Given the description of an element on the screen output the (x, y) to click on. 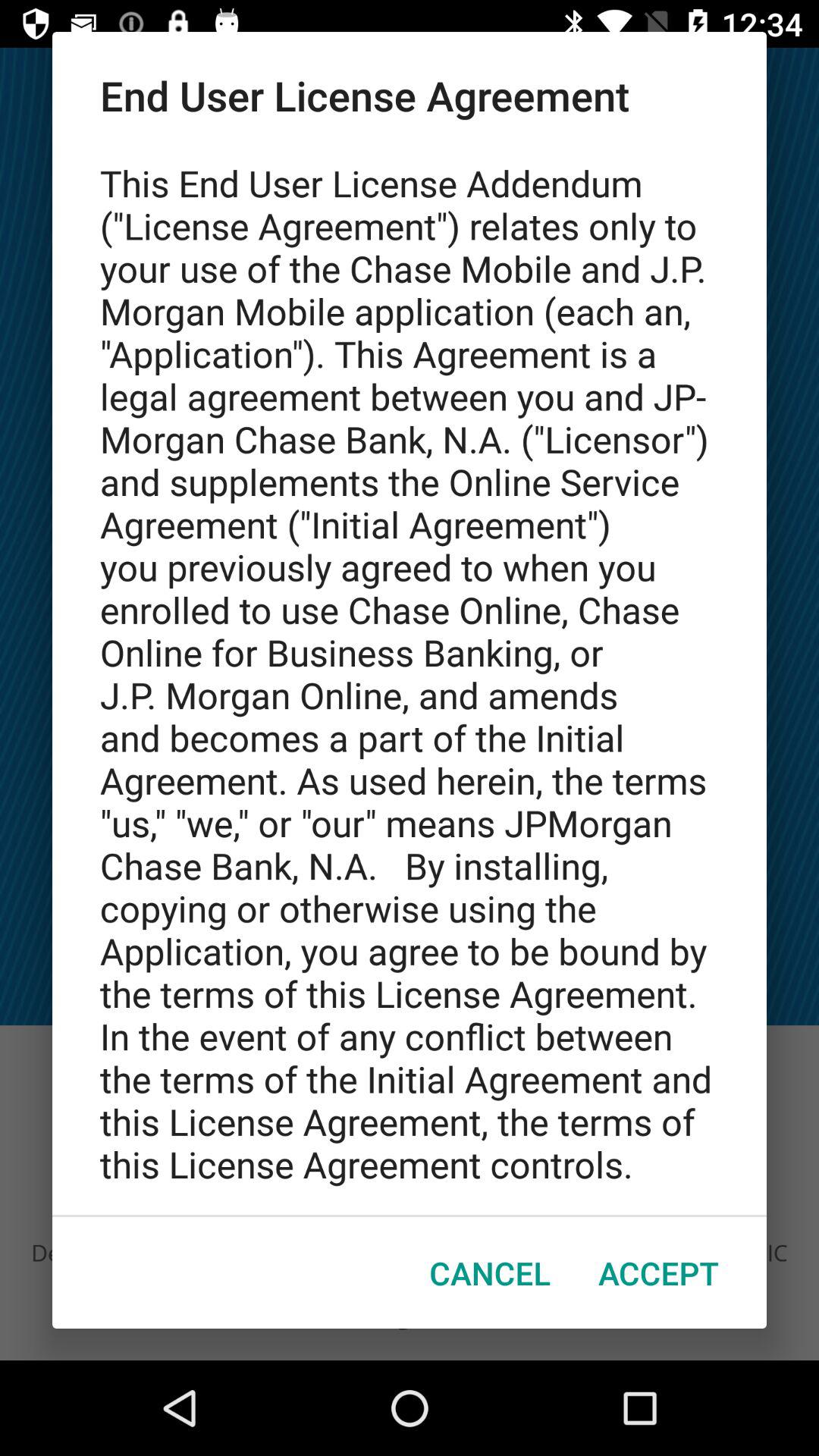
swipe until accept button (658, 1272)
